Given the description of an element on the screen output the (x, y) to click on. 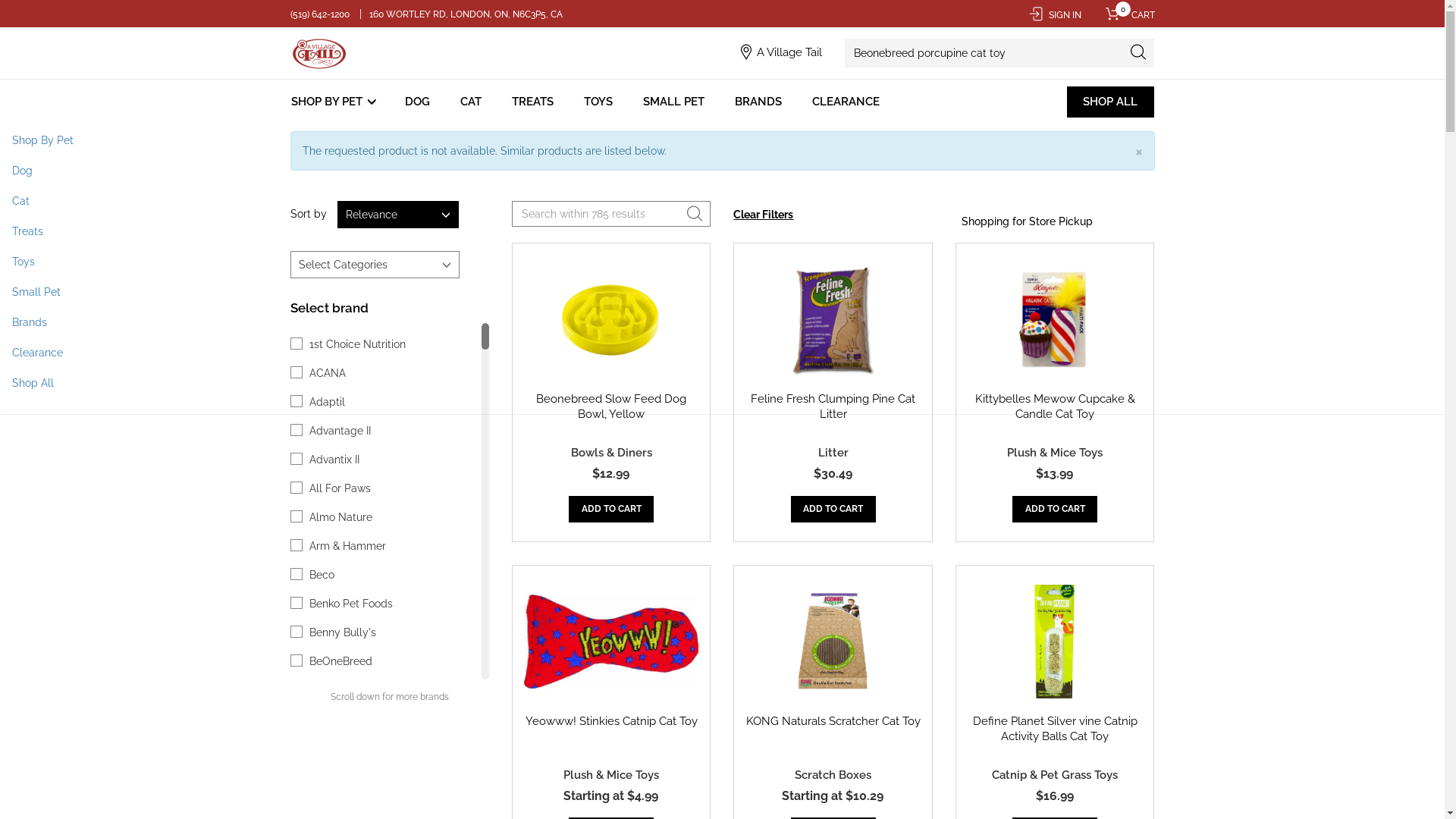
BRANDS Element type: text (758, 101)
DOG Element type: text (416, 101)
TREATS Element type: text (532, 101)
CLEARANCE Element type: text (845, 101)
ACANA Element type: text (327, 373)
Advantage II Element type: text (339, 430)
Bosco & Roxy's Element type: text (346, 805)
1st Choice Nutrition Element type: text (357, 344)
Toys Element type: text (721, 261)
Clear Filters Element type: text (763, 214)
ADD TO CART Element type: text (1054, 508)
Kittybelles Mewow Cupcake & Candle Cat Toy Element type: text (1055, 406)
SMALL PET Element type: text (672, 101)
Brands Element type: text (721, 322)
Select Categories Element type: text (373, 264)
Beonebreed Slow Feed Dog Bowl, Yellow Element type: text (611, 406)
Small Pet Element type: text (721, 291)
Benny Bully's Element type: text (342, 632)
SHOP BY PET Element type: text (334, 101)
ADD TO CART Element type: text (832, 508)
Treats Element type: text (721, 231)
CAT Element type: text (470, 101)
A Village Tail Element type: text (789, 52)
SHOP ALL Element type: text (1109, 101)
Benko Pet Foods Element type: text (350, 603)
Advantix II Element type: text (334, 459)
(519) 642-1200 Element type: text (320, 14)
0 CART Element type: text (1125, 14)
Cat Element type: text (721, 200)
Adaptil Element type: text (327, 401)
TOYS Element type: text (597, 101)
Beco Element type: text (321, 574)
All For Paws Element type: text (339, 488)
BeOneBreed Element type: text (340, 661)
Bluestem Element type: text (332, 718)
Bocce's Bakery Element type: text (347, 747)
160 WORTLEY RD, LONDON, ON, N6C3P5, CA Element type: text (466, 14)
Shop All Element type: text (721, 382)
Dog Element type: text (721, 170)
Clearance Element type: text (721, 352)
Boreal Element type: text (325, 776)
Yeowww! Stinkies Catnip Cat Toy Element type: text (611, 721)
KONG Naturals Scratcher Cat Toy Element type: text (833, 721)
Arm & Hammer Element type: text (347, 545)
Almo Nature Element type: text (340, 517)
ADD TO CART Element type: text (610, 508)
Define Planet Silver vine Catnip Activity Balls Cat Toy Element type: text (1054, 728)
Feline Fresh Clumping Pine Cat Litter Element type: text (832, 406)
Relevance Element type: text (397, 214)
Shop By Pet Element type: text (721, 140)
SIGN IN Element type: text (1054, 14)
